Given the description of an element on the screen output the (x, y) to click on. 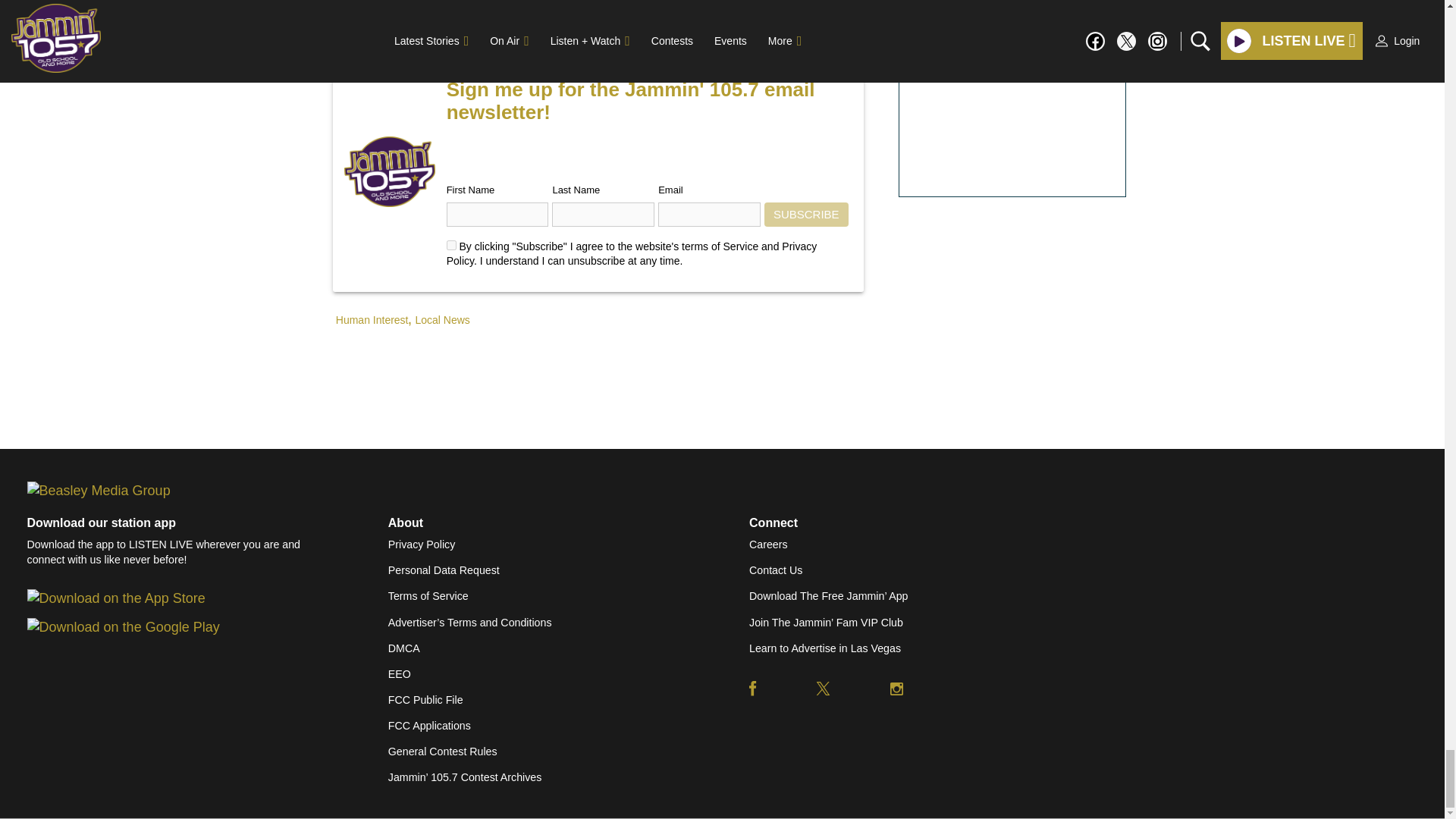
on (451, 245)
Twitter (823, 688)
Instagram (895, 688)
